Given the description of an element on the screen output the (x, y) to click on. 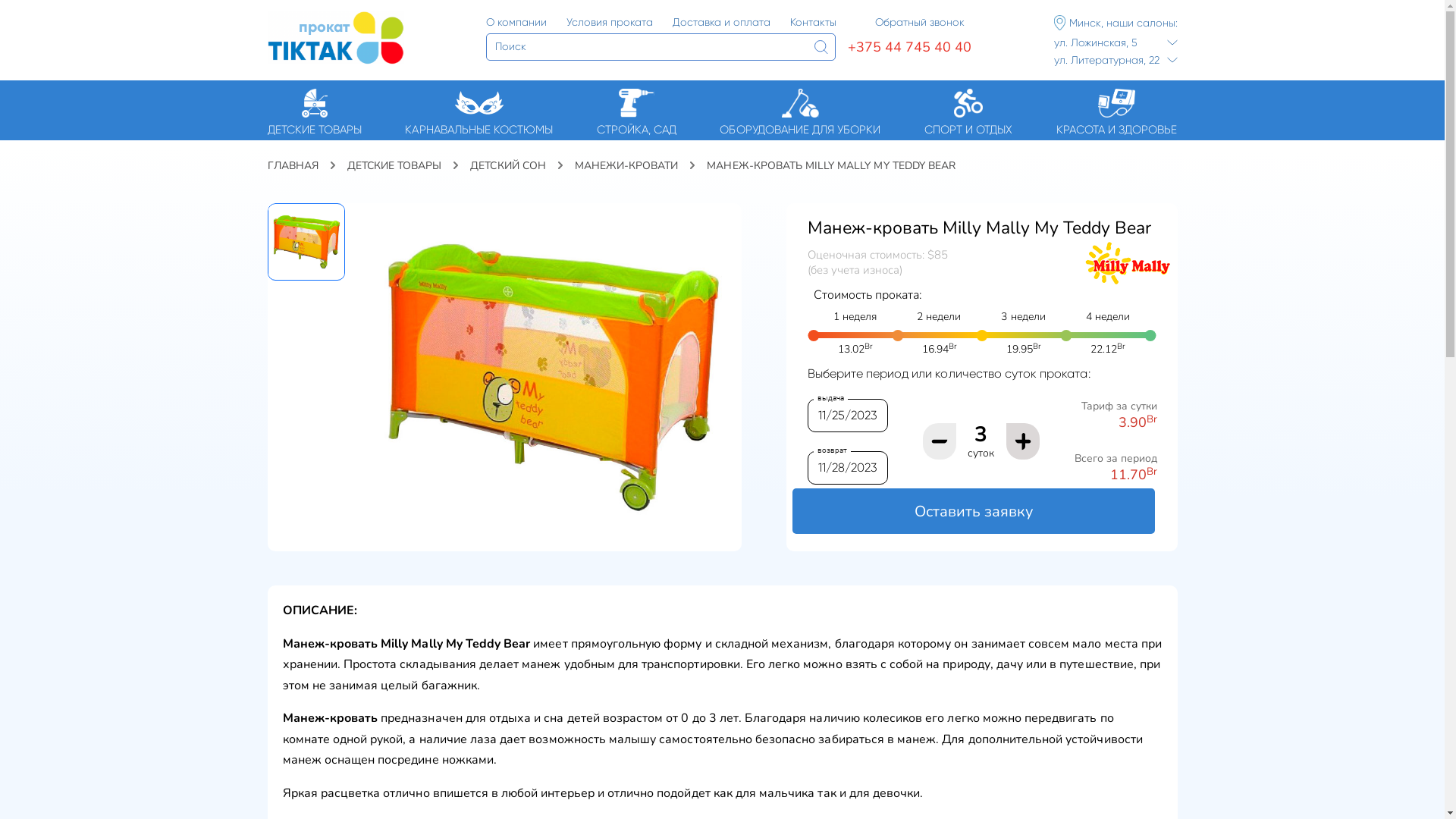
+375 44 745 40 40 Element type: text (909, 47)
